Given the description of an element on the screen output the (x, y) to click on. 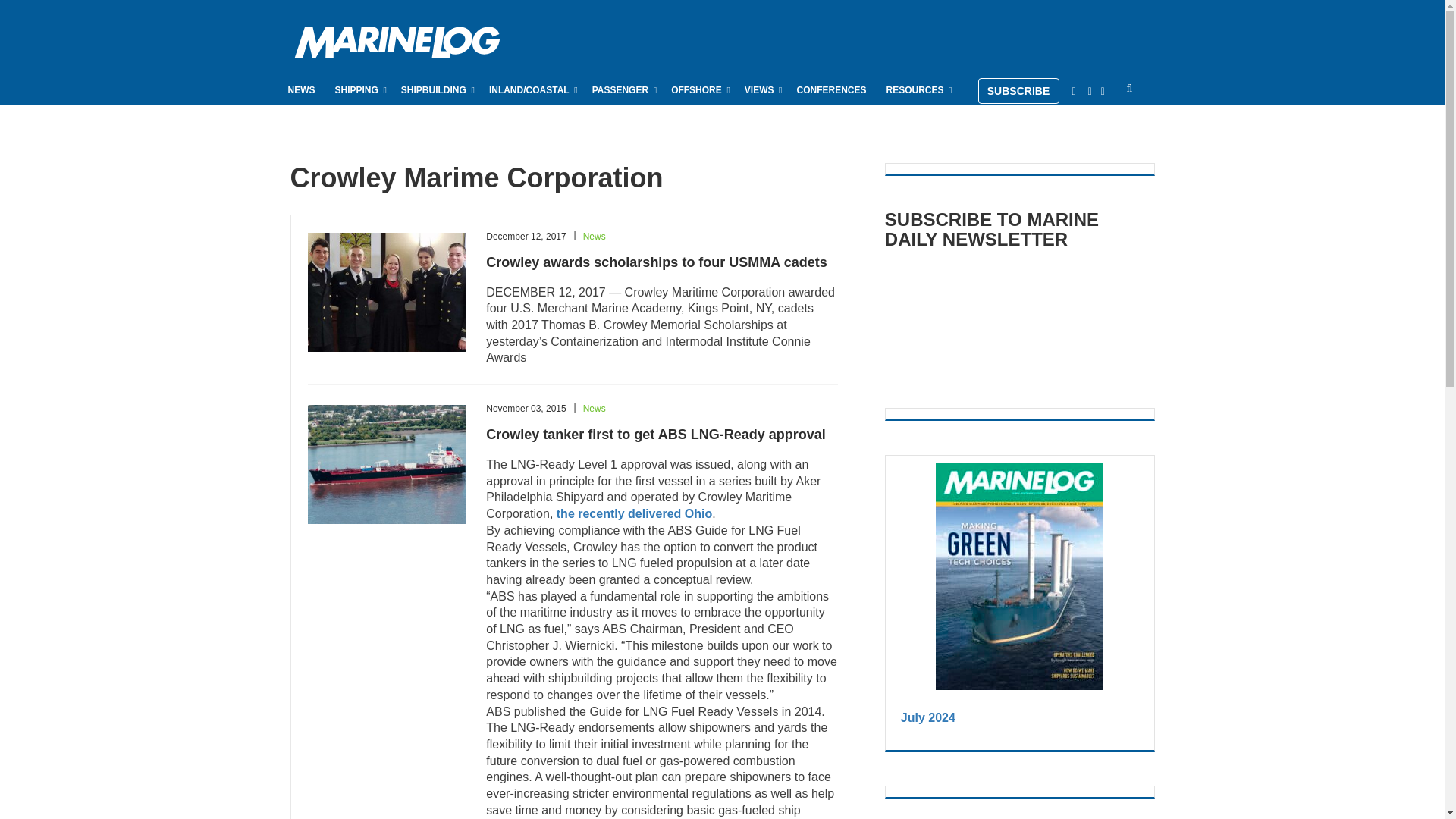
Shipping (358, 89)
News (301, 89)
SUBSCRIBE (1018, 90)
SHIPPING (358, 89)
Shipbuilding (435, 89)
NEWS (301, 89)
